Given the description of an element on the screen output the (x, y) to click on. 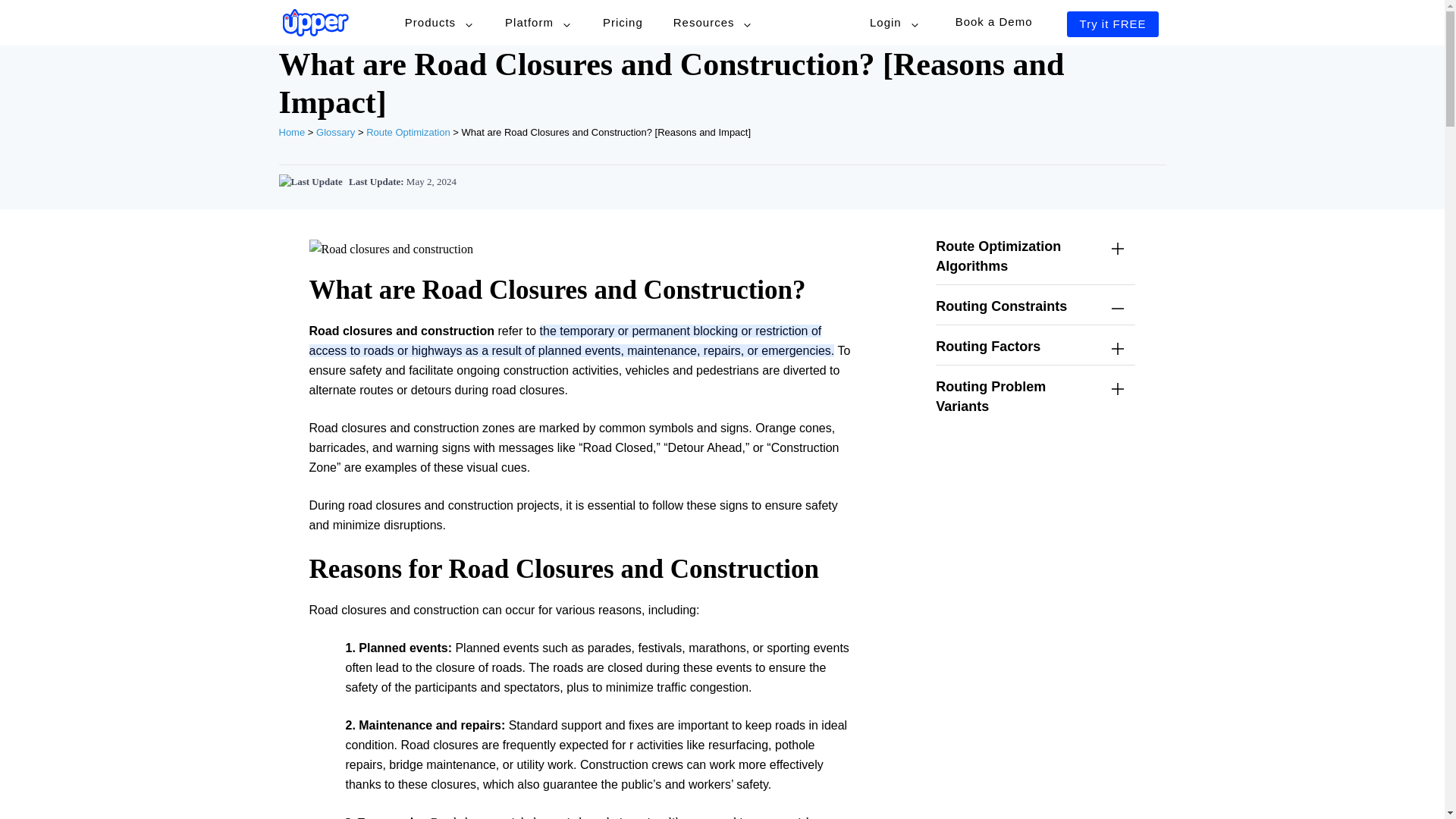
Platform (538, 22)
Products (439, 22)
